Given the description of an element on the screen output the (x, y) to click on. 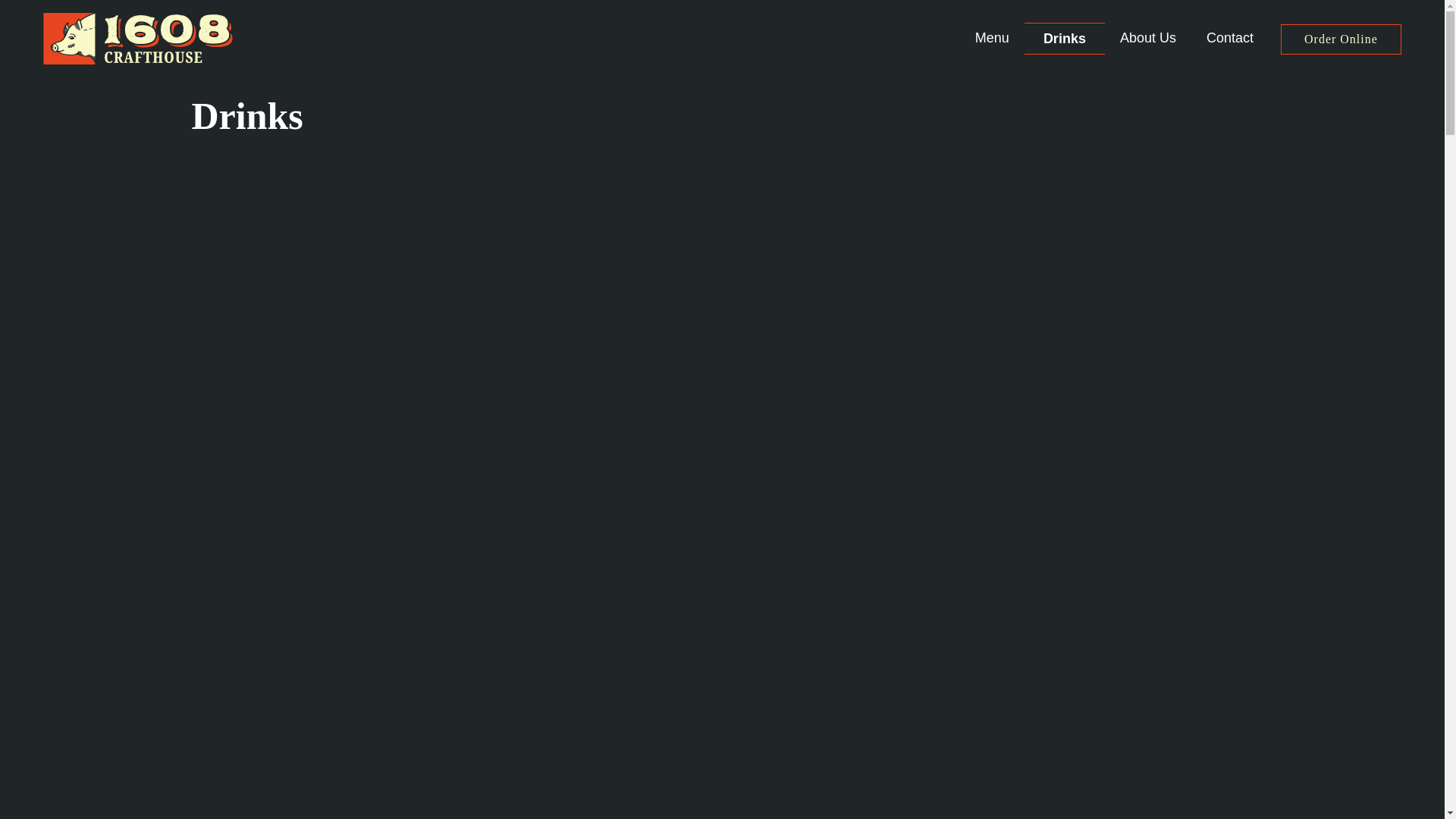
Menu Element type: text (992, 37)
About Us Element type: text (1147, 37)
Contact Element type: text (1229, 37)
Order Online Element type: text (1340, 39)
Drinks Element type: text (1064, 38)
